Given the description of an element on the screen output the (x, y) to click on. 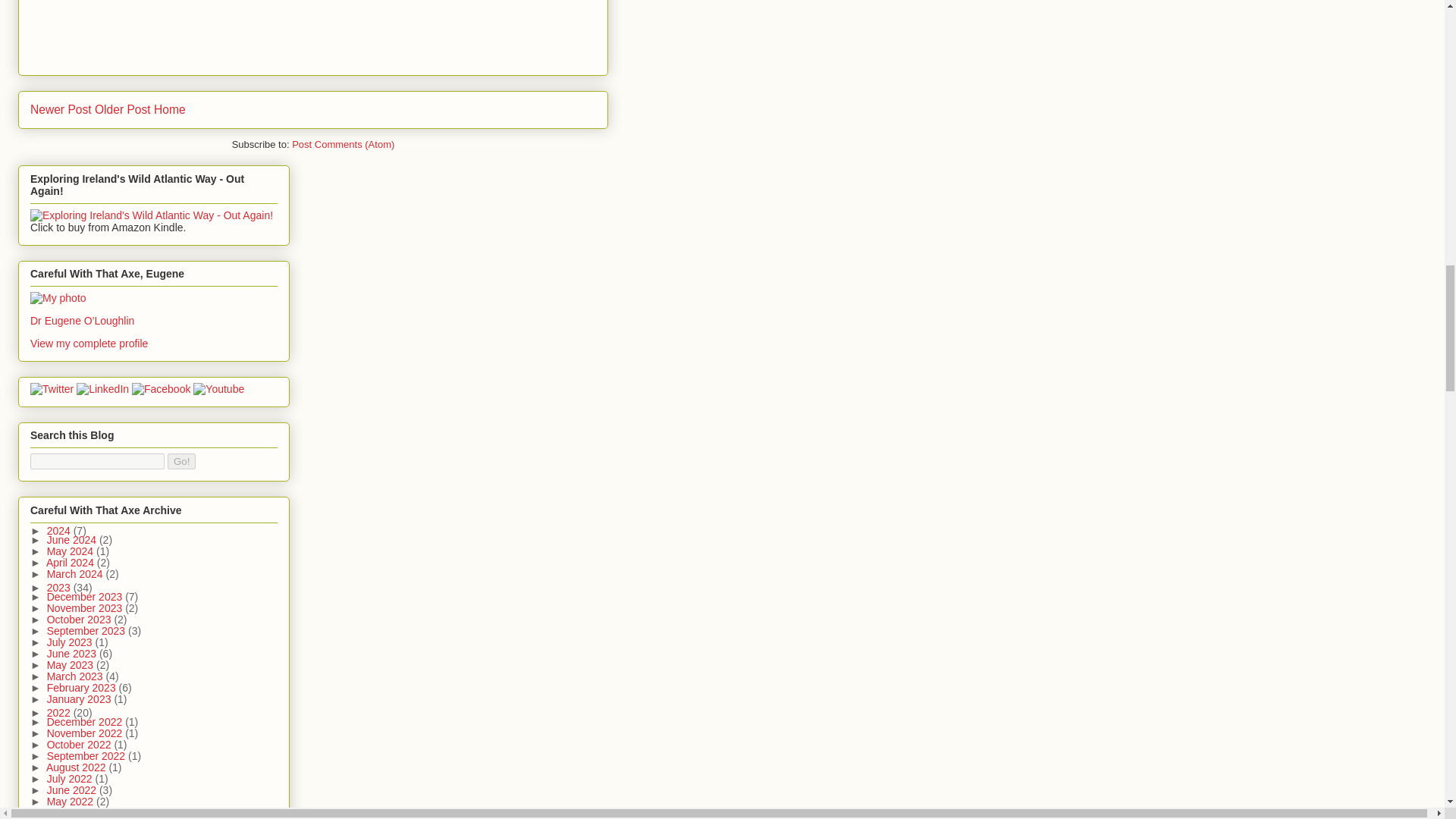
2024 (60, 530)
Newer Post (60, 109)
Older Post (122, 109)
Dr Eugene O'Loughlin (81, 320)
June 2024 (72, 539)
May 2024 (71, 551)
Home (170, 109)
Go! (181, 461)
Newer Post (60, 109)
View my complete profile (89, 343)
Go! (181, 461)
April 2024 (71, 562)
Older Post (122, 109)
